Given the description of an element on the screen output the (x, y) to click on. 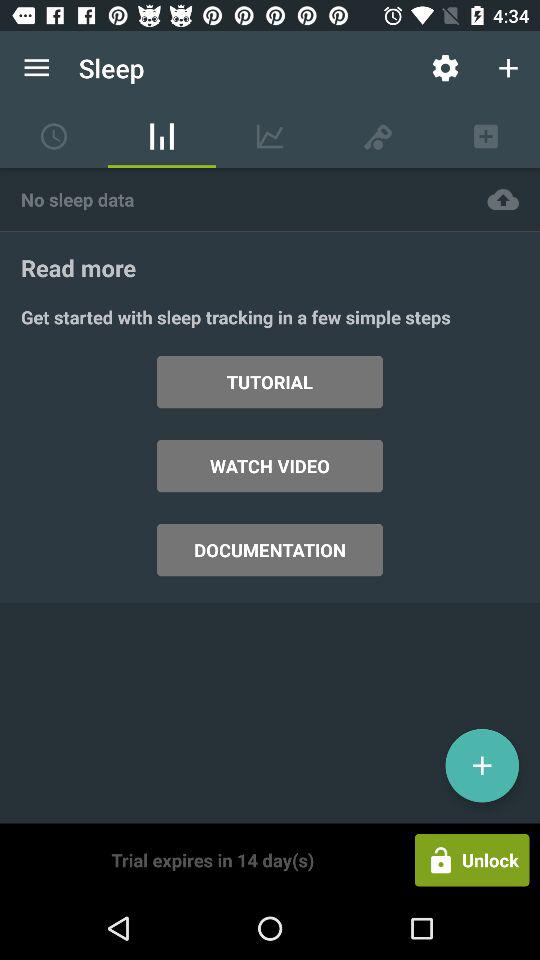
click the icon below watch video (269, 549)
